Given the description of an element on the screen output the (x, y) to click on. 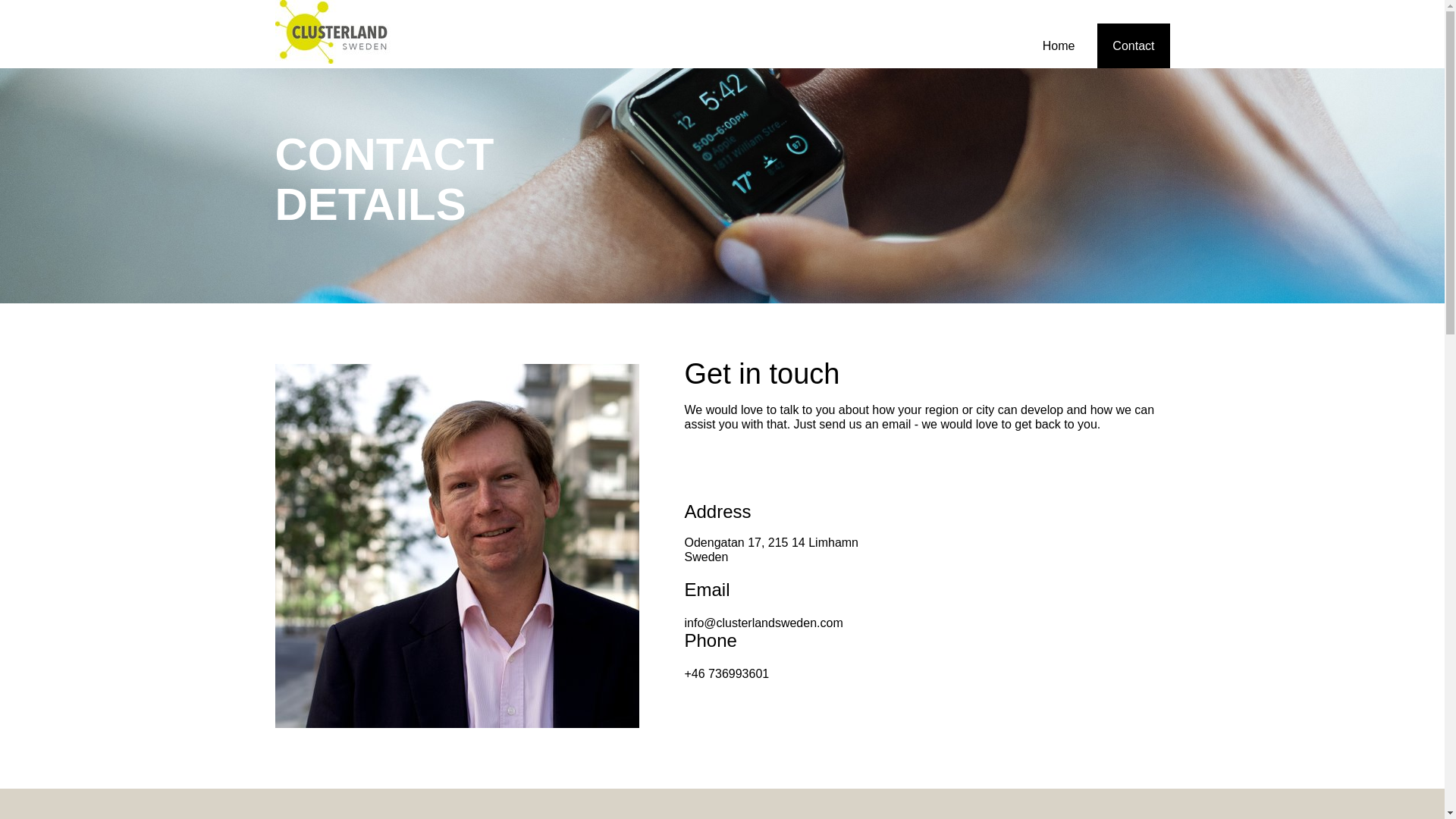
Home (1058, 44)
Micael Gustafsson CEO Clusterland Sweden (457, 545)
Contact (1133, 44)
